Given the description of an element on the screen output the (x, y) to click on. 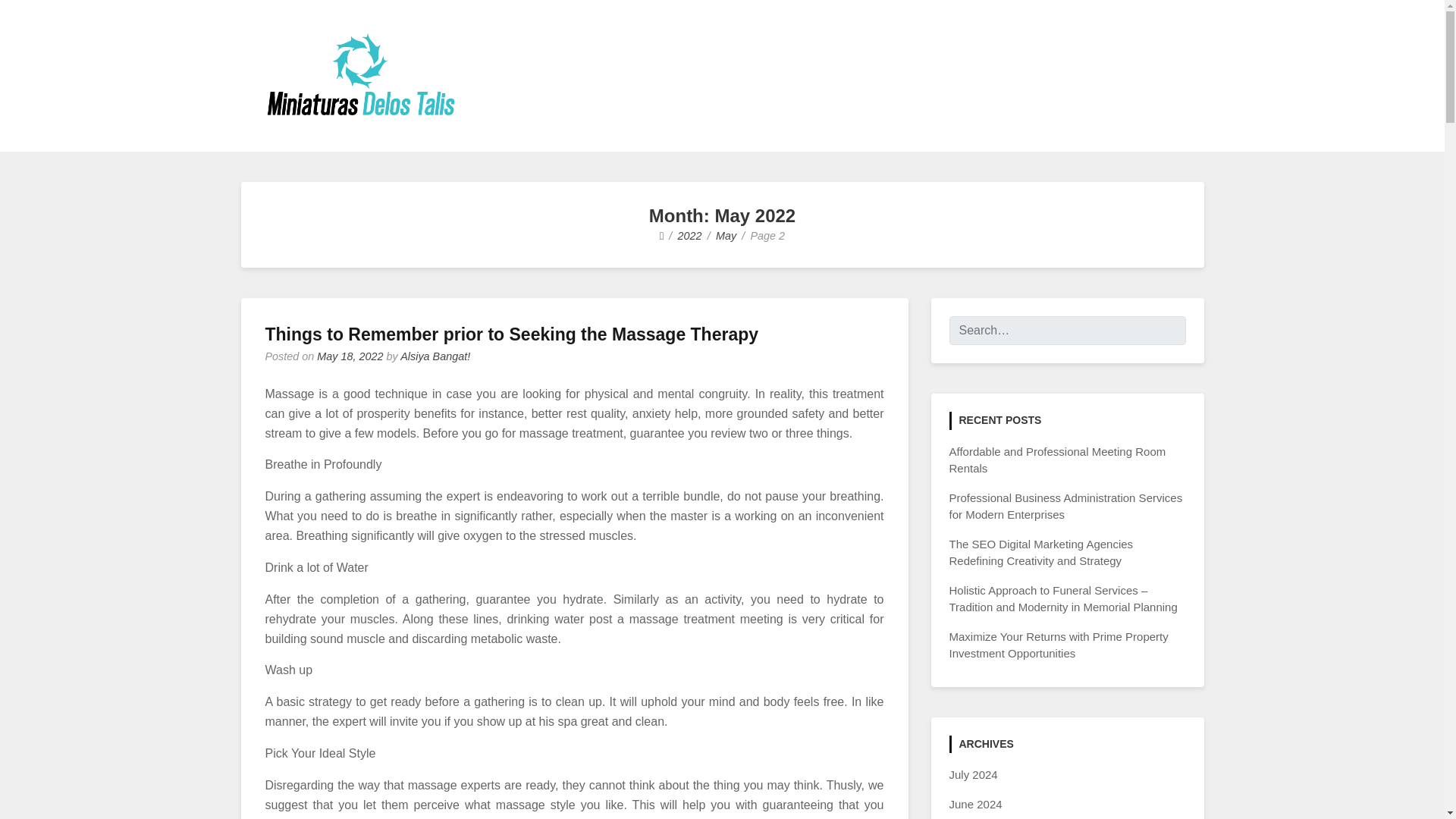
Things to Remember prior to Seeking the Massage Therapy (511, 333)
Affordable and Professional Meeting Room Rentals (1057, 460)
May 18, 2022 (349, 356)
May (726, 235)
For General Discussion (419, 140)
Alsiya Bangat! (435, 356)
2022 (689, 235)
